Given the description of an element on the screen output the (x, y) to click on. 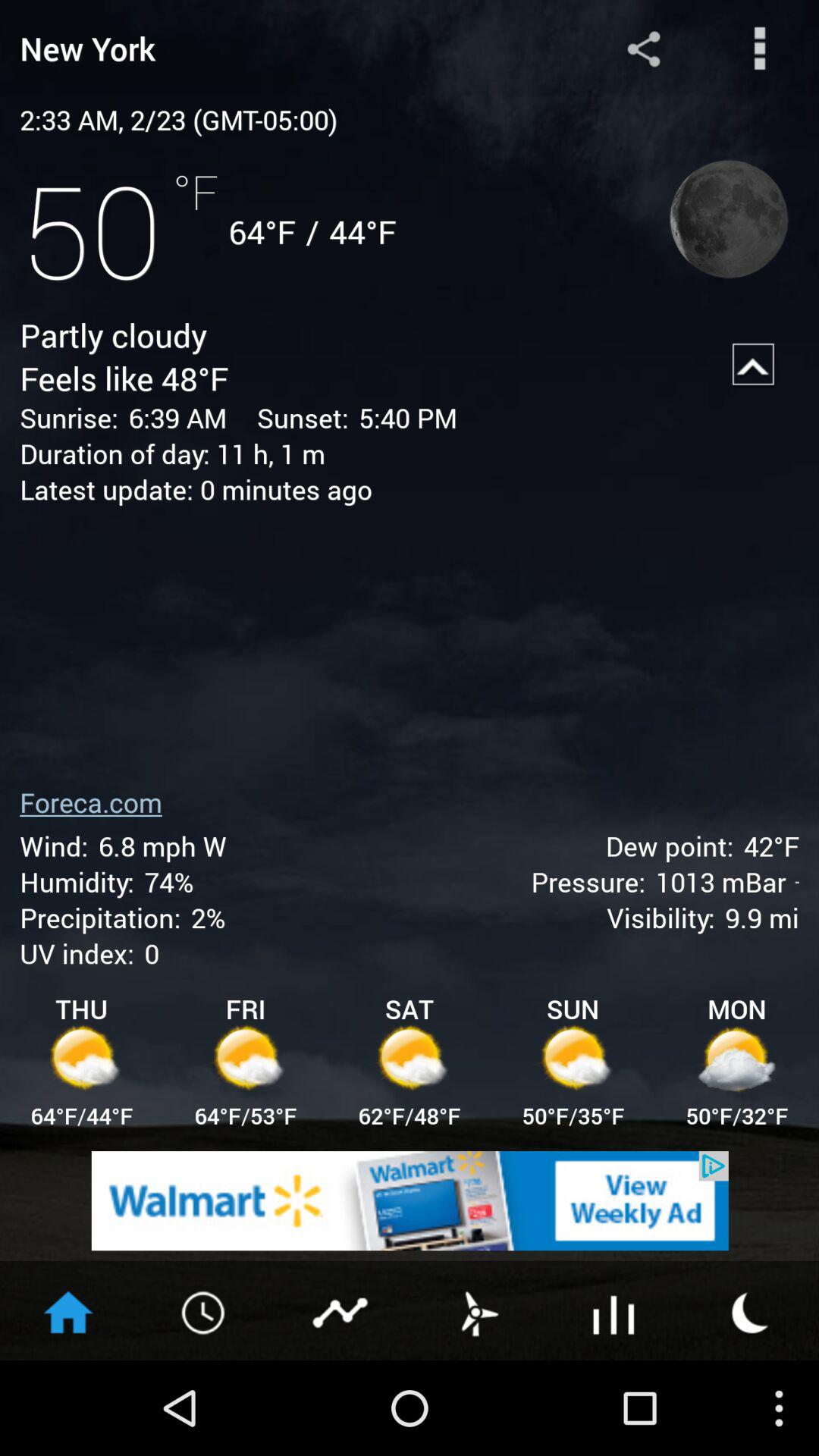
sharing files (643, 48)
